Given the description of an element on the screen output the (x, y) to click on. 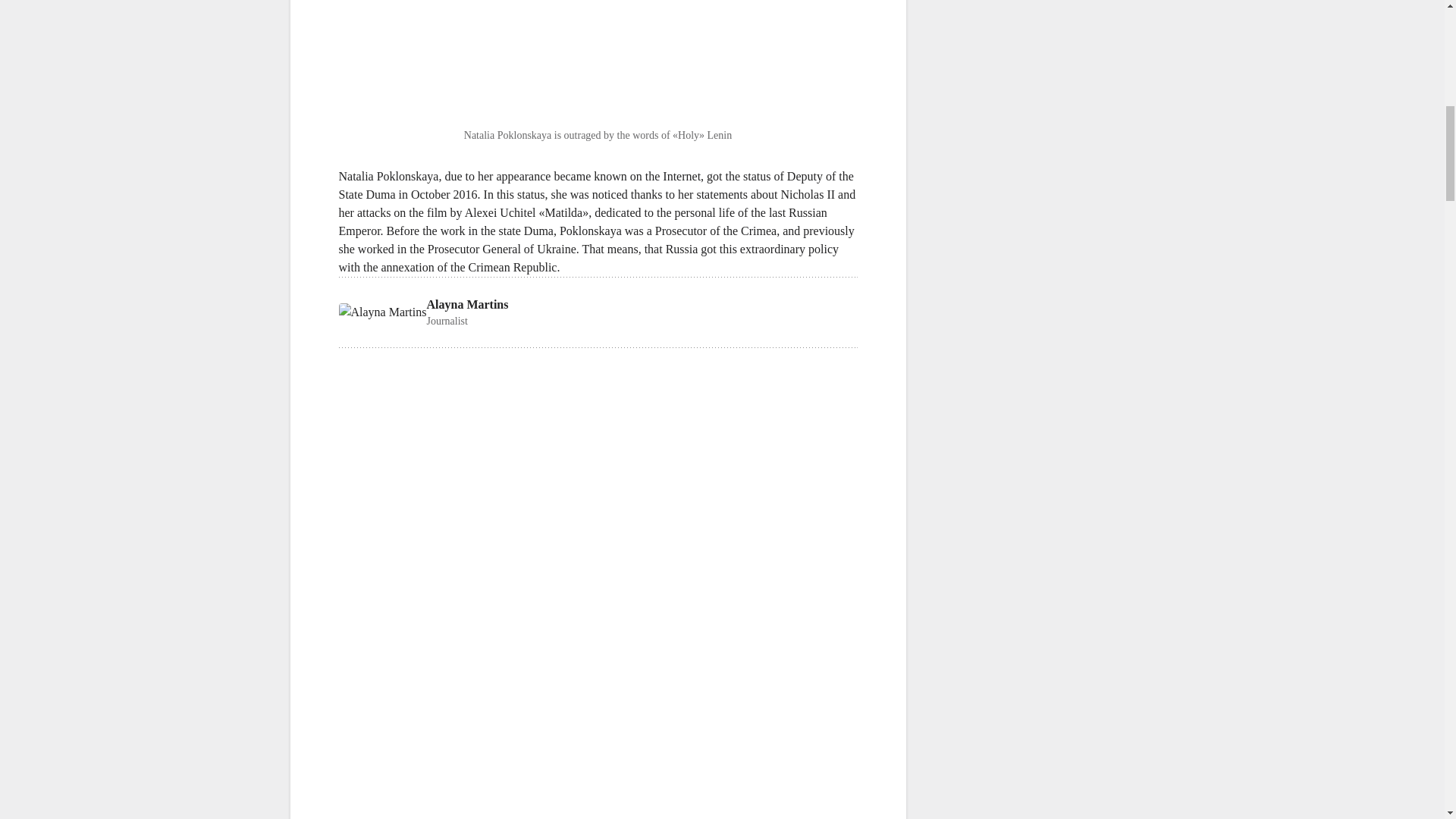
Natalia Poklonskaya (597, 312)
Natalia Poklonskaya (387, 175)
